Given the description of an element on the screen output the (x, y) to click on. 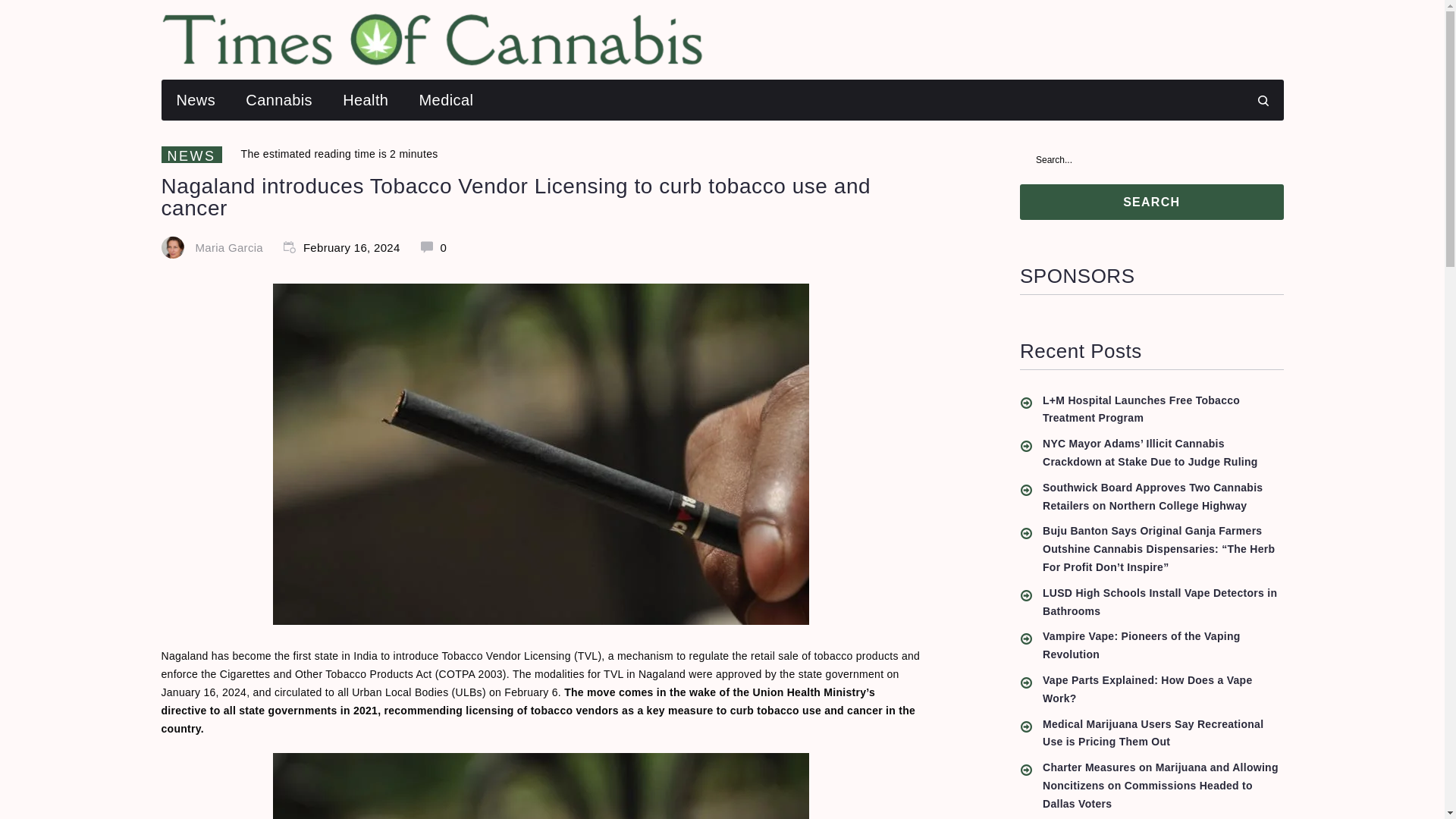
SEARCH (1152, 202)
NEWS (190, 154)
Maria Garcia (229, 246)
News (195, 99)
Cannabis (278, 99)
0 (433, 246)
Medical (446, 99)
Health (365, 99)
LUSD High Schools Install Vape Detectors in Bathrooms (1163, 602)
